Given the description of an element on the screen output the (x, y) to click on. 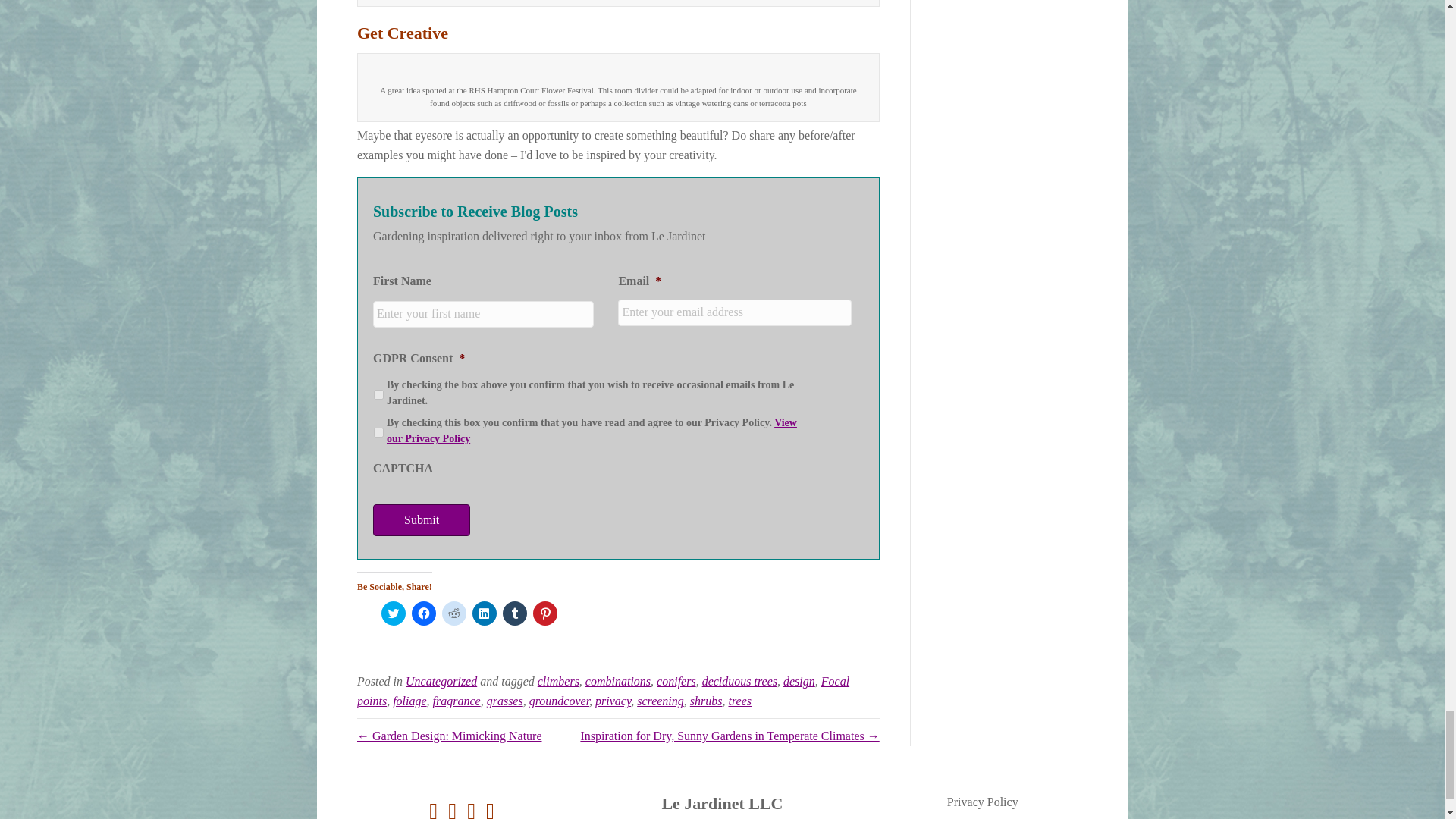
Submit (421, 519)
Click to share on Reddit (453, 613)
Click to share on Pinterest (544, 613)
Click to share on Tumblr (514, 613)
Click to share on Facebook (423, 613)
Click to share on Twitter (393, 613)
Click to share on LinkedIn (483, 613)
